Given the description of an element on the screen output the (x, y) to click on. 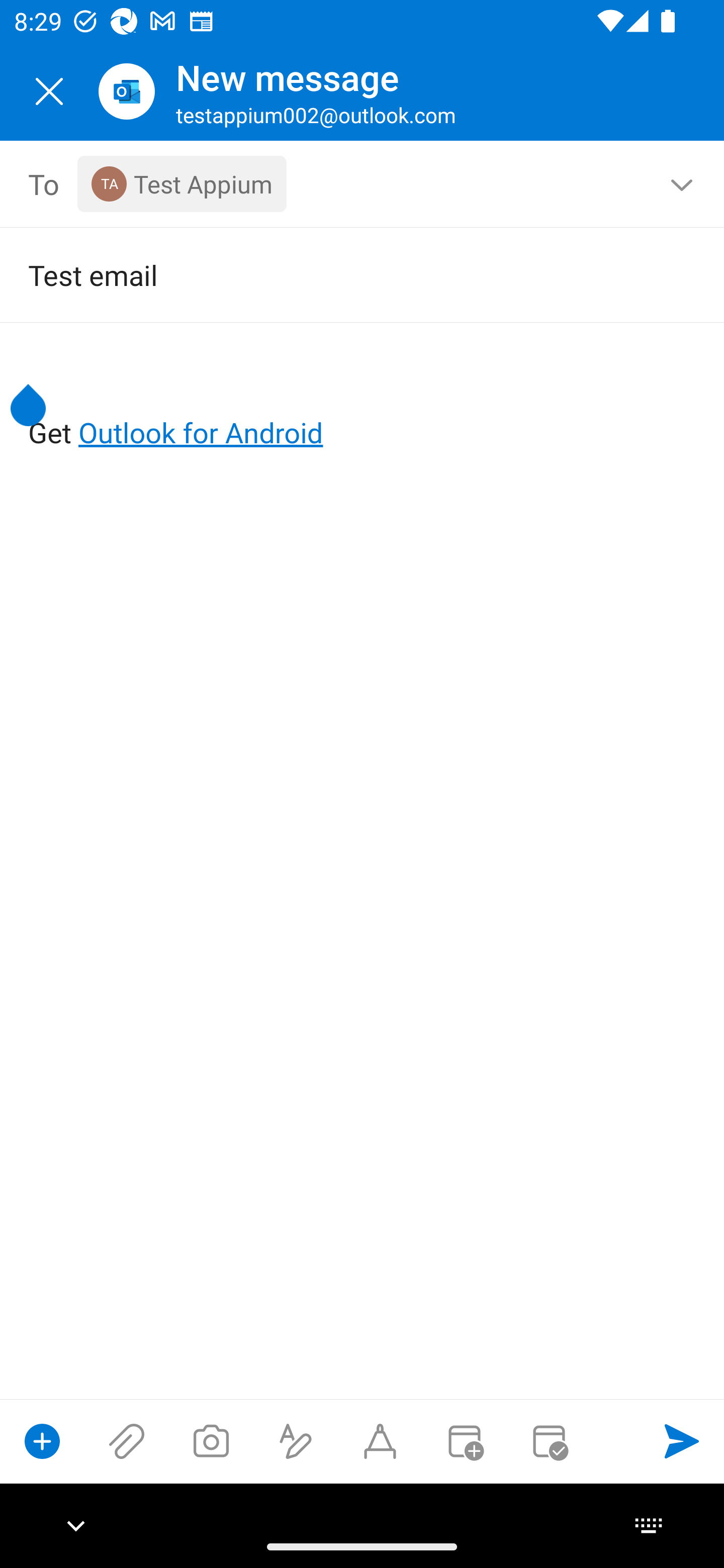
Close (49, 91)
Test email (333, 274)


Get Outlook for Android (363, 400)
Show compose options (42, 1440)
Attach files (126, 1440)
Take a photo (210, 1440)
Show formatting options (295, 1440)
Start Ink compose (380, 1440)
Convert to event (464, 1440)
Send availability (548, 1440)
Send (681, 1440)
